Given the description of an element on the screen output the (x, y) to click on. 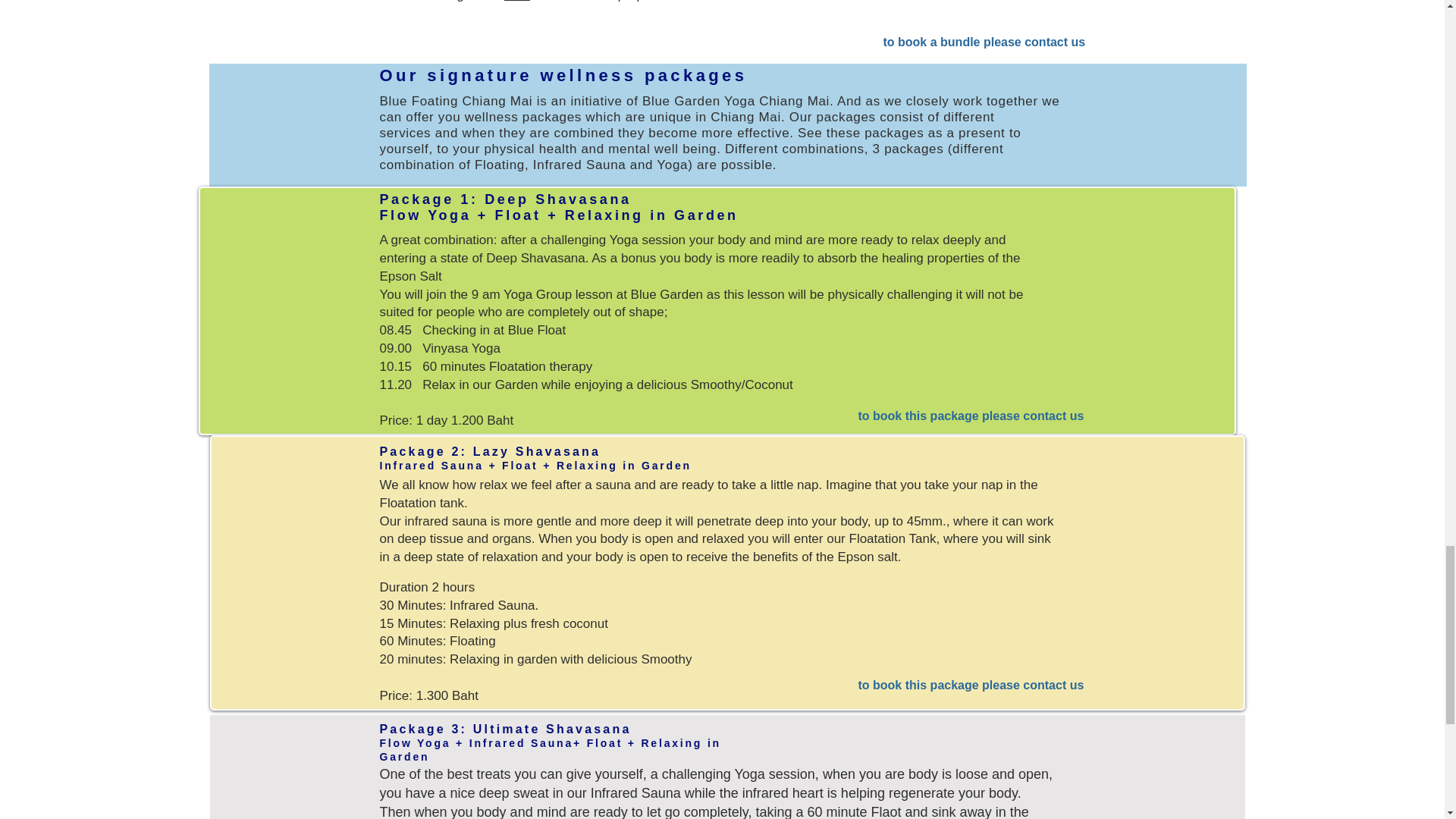
here (516, 1)
to book this package please contact us (971, 416)
to book this package please contact us (971, 685)
to book a bundle please contact us (983, 41)
